Given the description of an element on the screen output the (x, y) to click on. 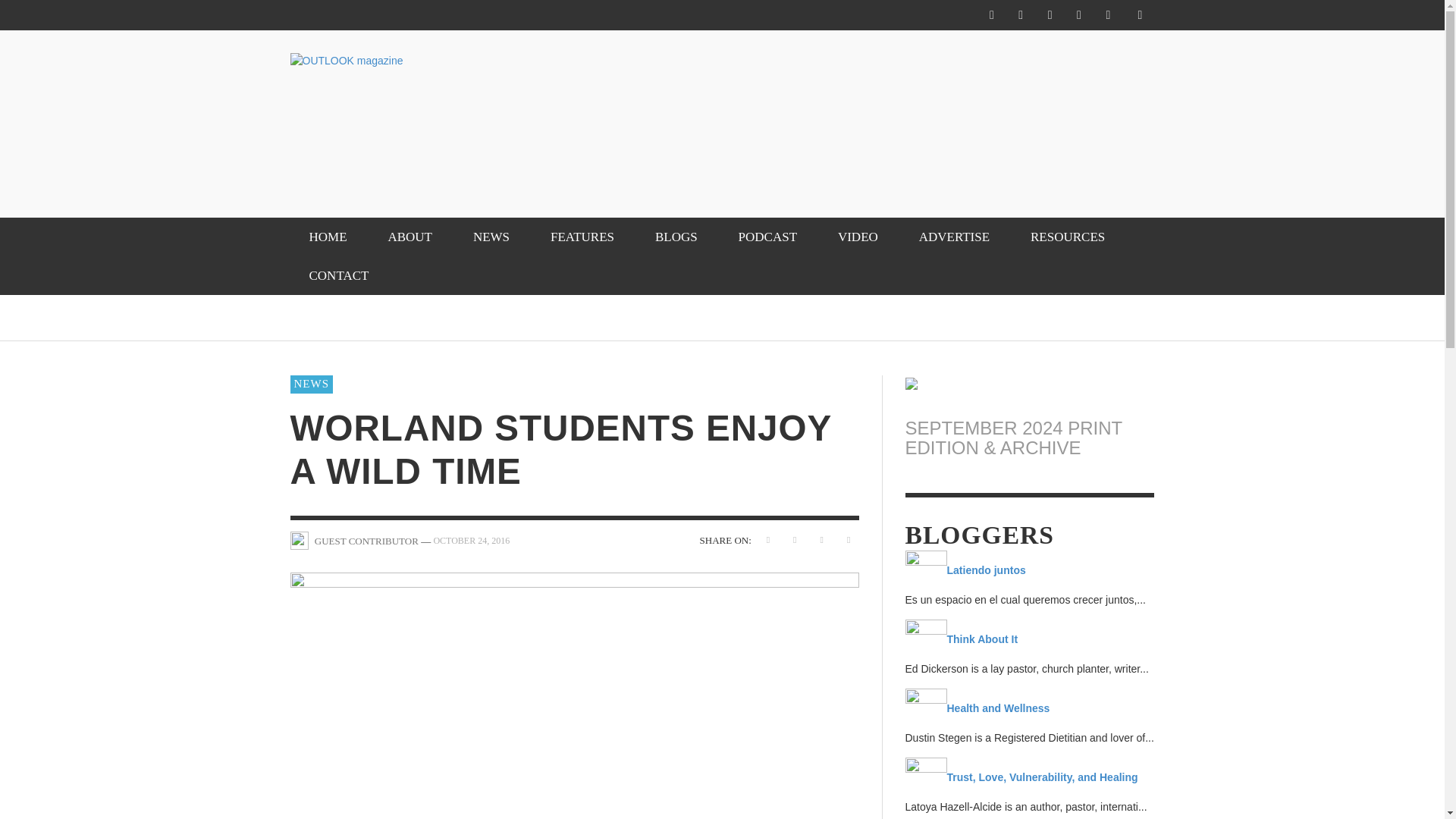
Instagram (1020, 15)
Youtube (1107, 15)
HOME (327, 236)
Facebook (991, 15)
Twitter (1049, 15)
NEWS (491, 236)
ABOUT (409, 236)
Vimeo (1078, 15)
FEATURES (582, 236)
